Given the description of an element on the screen output the (x, y) to click on. 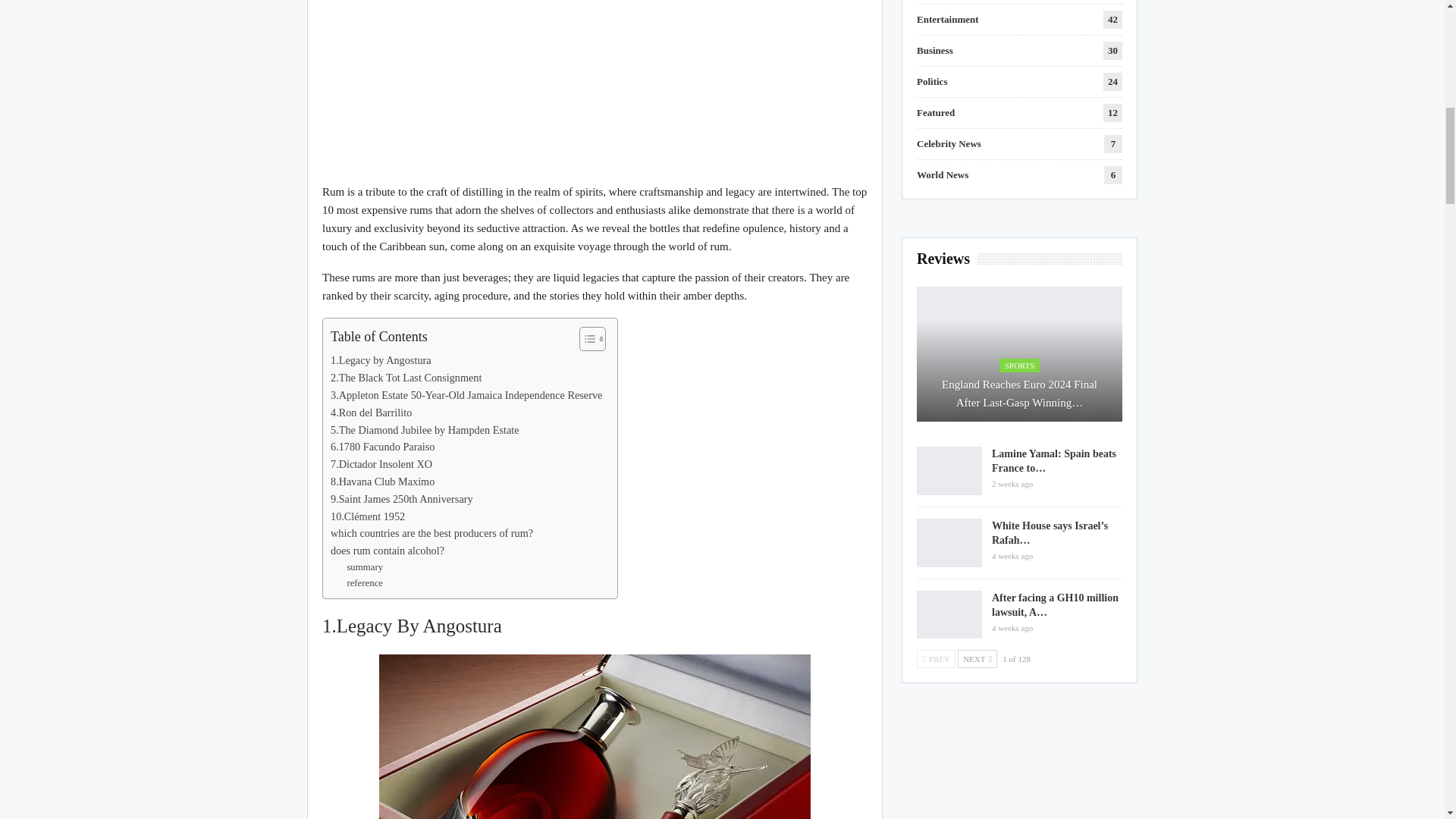
7.Dictador Insolent XO (381, 464)
8.Havana Club Maximo (381, 481)
6.1780 Facundo Paraiso (381, 446)
1.Legacy by Angostura (380, 360)
3.Appleton Estate 50-Year-Old Jamaica Independence Reserve (466, 395)
5.The Diamond Jubilee by Hampden Estate (424, 429)
4.Ron del Barrilito (371, 412)
9.Saint James 250th Anniversary (401, 498)
2.The Black Tot Last Consignment (405, 377)
5.The Diamond Jubilee by Hampden Estate (424, 429)
3.Appleton Estate 50-Year-Old Jamaica Independence Reserve (466, 395)
Advertisement (594, 91)
4.Ron del Barrilito (371, 412)
2.The Black Tot Last Consignment (405, 377)
1.Legacy by Angostura (380, 360)
